Given the description of an element on the screen output the (x, y) to click on. 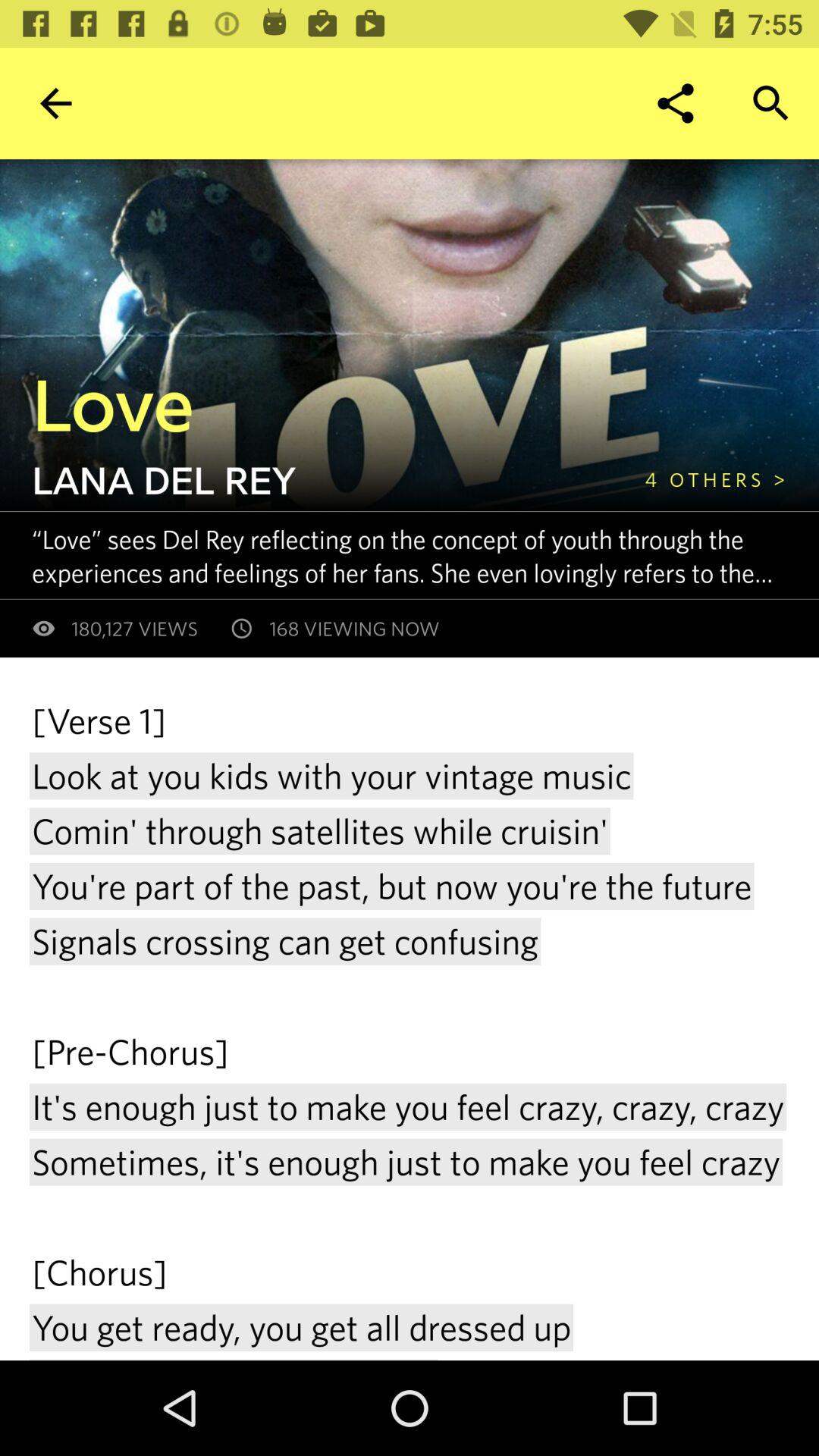
launch the verse 1 look icon (409, 1028)
